Given the description of an element on the screen output the (x, y) to click on. 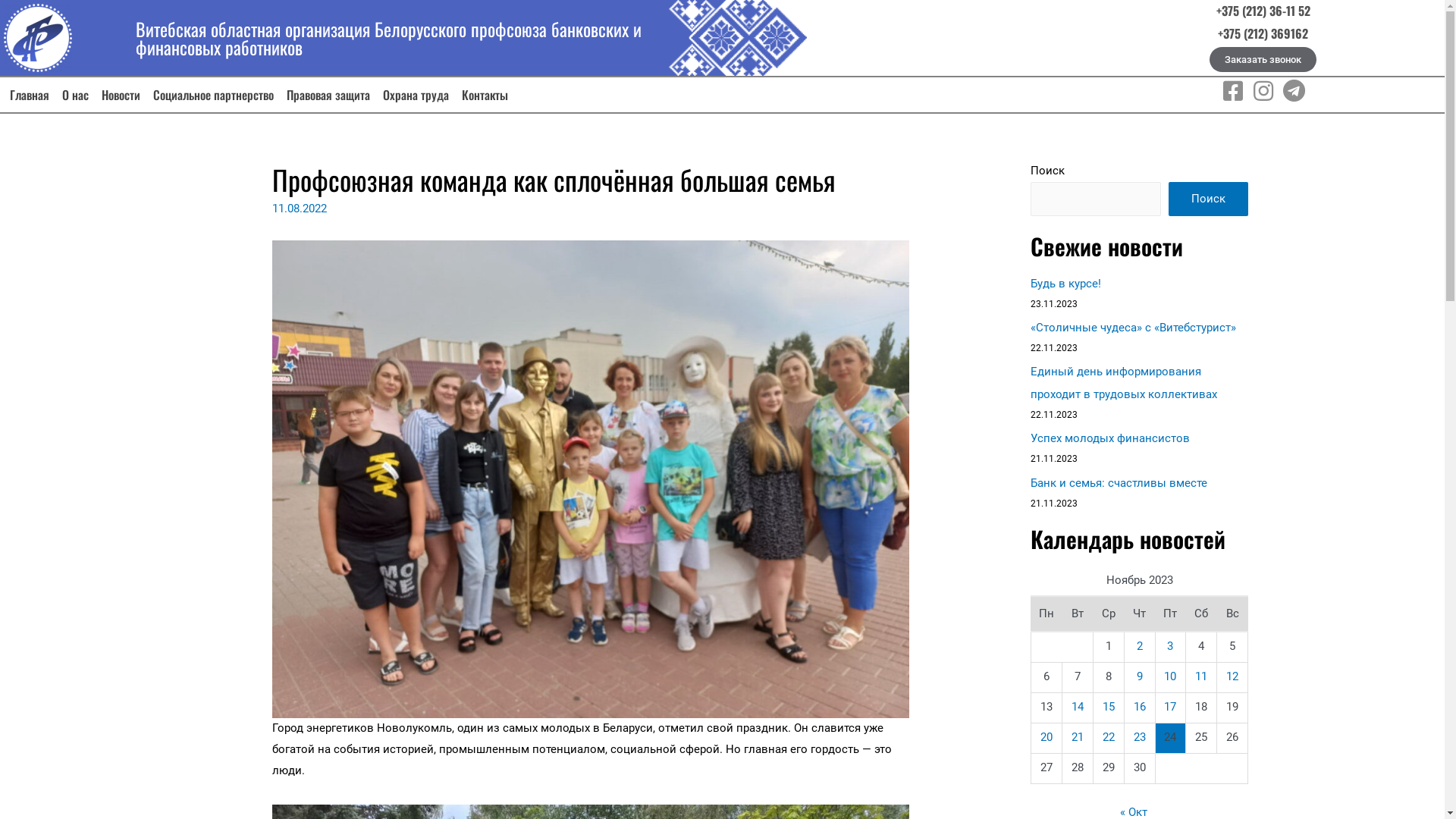
14 Element type: text (1077, 706)
2 Element type: text (1139, 645)
3 Element type: text (1170, 645)
20 Element type: text (1046, 736)
23 Element type: text (1139, 736)
10 Element type: text (1170, 676)
17 Element type: text (1170, 706)
16 Element type: text (1139, 706)
21 Element type: text (1077, 736)
11 Element type: text (1201, 676)
12 Element type: text (1232, 676)
22 Element type: text (1108, 736)
15 Element type: text (1108, 706)
9 Element type: text (1139, 676)
